Given the description of an element on the screen output the (x, y) to click on. 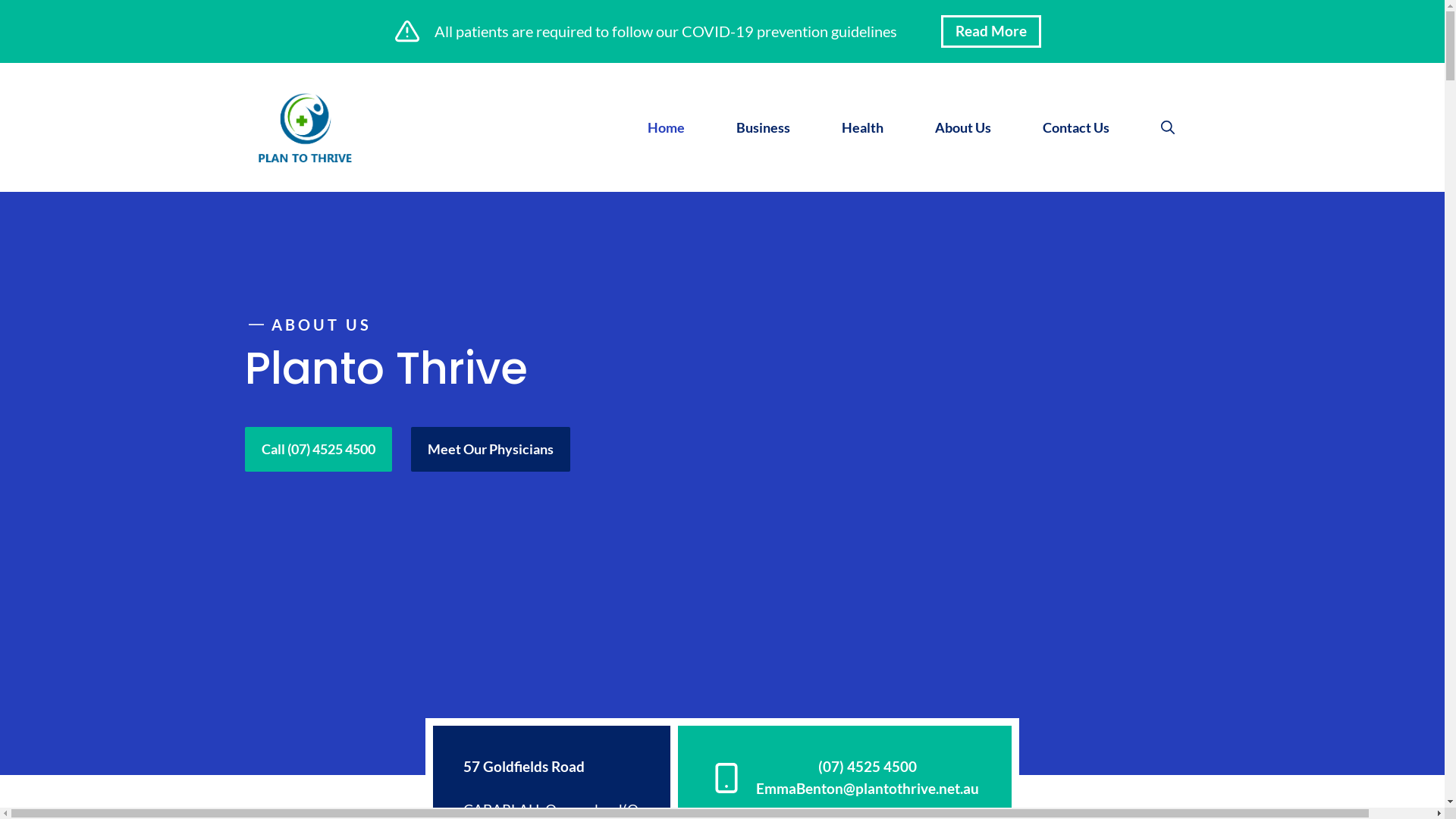
Plan to Thrive Element type: hover (304, 126)
Meet Our Physicians Element type: text (490, 448)
Health Element type: text (862, 127)
Call (07) 4525 4500 Element type: text (317, 448)
Business Element type: text (762, 127)
Plan to Thrive Element type: hover (304, 124)
Read More Element type: text (991, 31)
Contact Us Element type: text (1075, 127)
About Us Element type: text (962, 127)
Home Element type: text (665, 127)
